Given the description of an element on the screen output the (x, y) to click on. 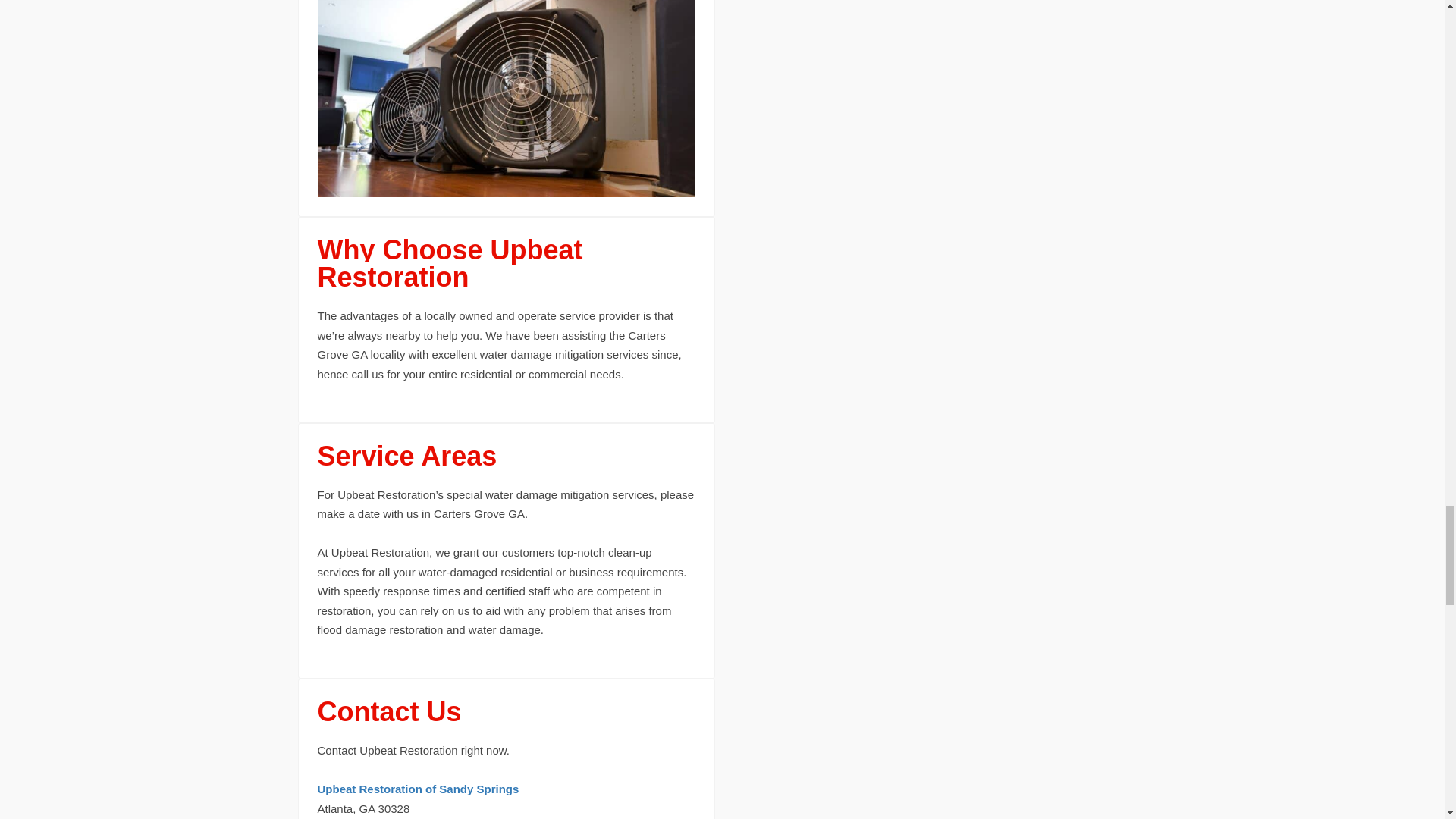
Upbeat Restoration of Sandy Springs (417, 788)
